Given the description of an element on the screen output the (x, y) to click on. 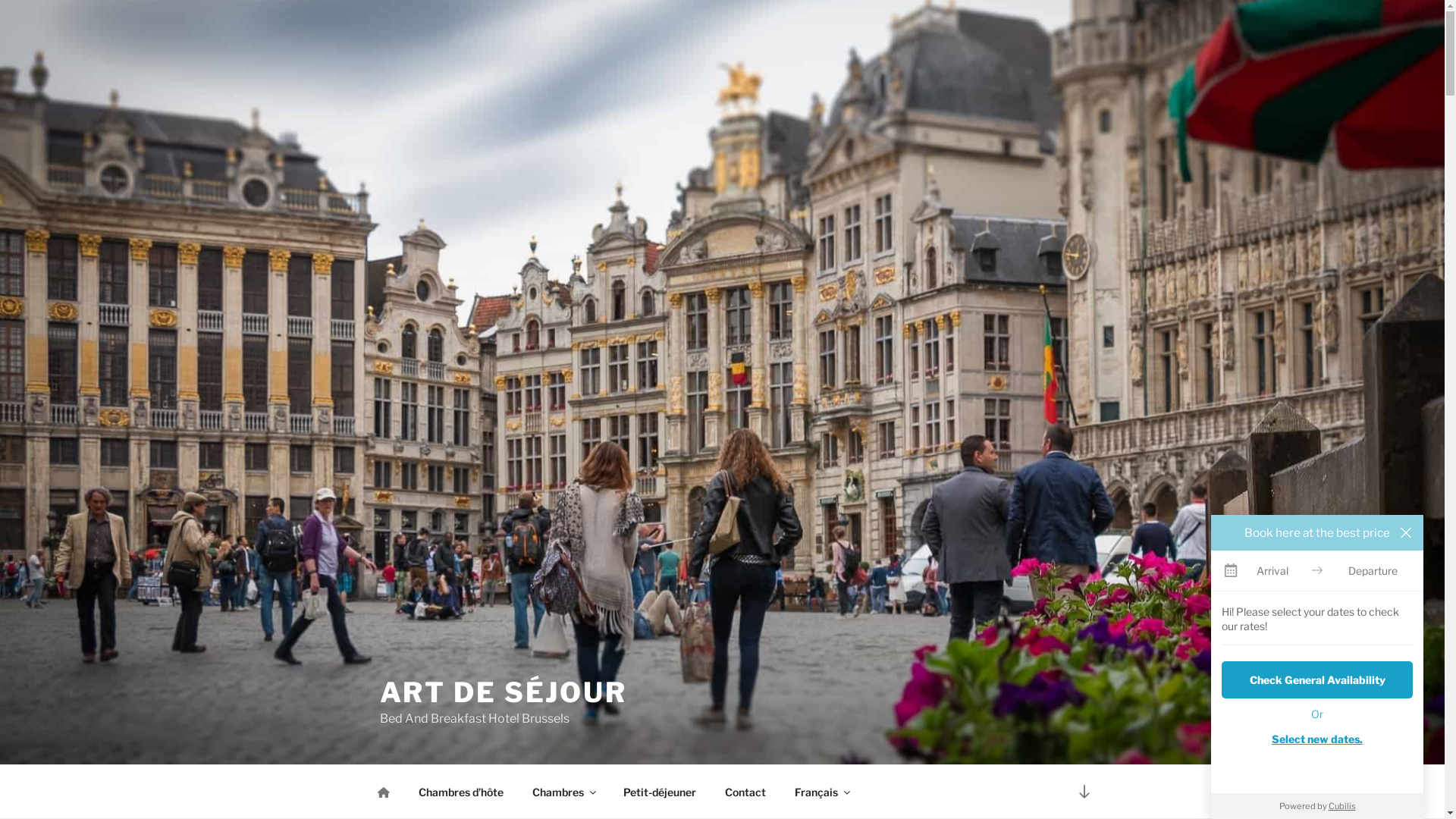
Select new dates. Element type: text (1316, 738)
Cubilis Element type: text (1341, 805)
Chambres Element type: text (562, 791)
Check General Availability Element type: text (1316, 679)
Contact Element type: text (744, 791)
Descendre au contenu Element type: text (1083, 790)
